Given the description of an element on the screen output the (x, y) to click on. 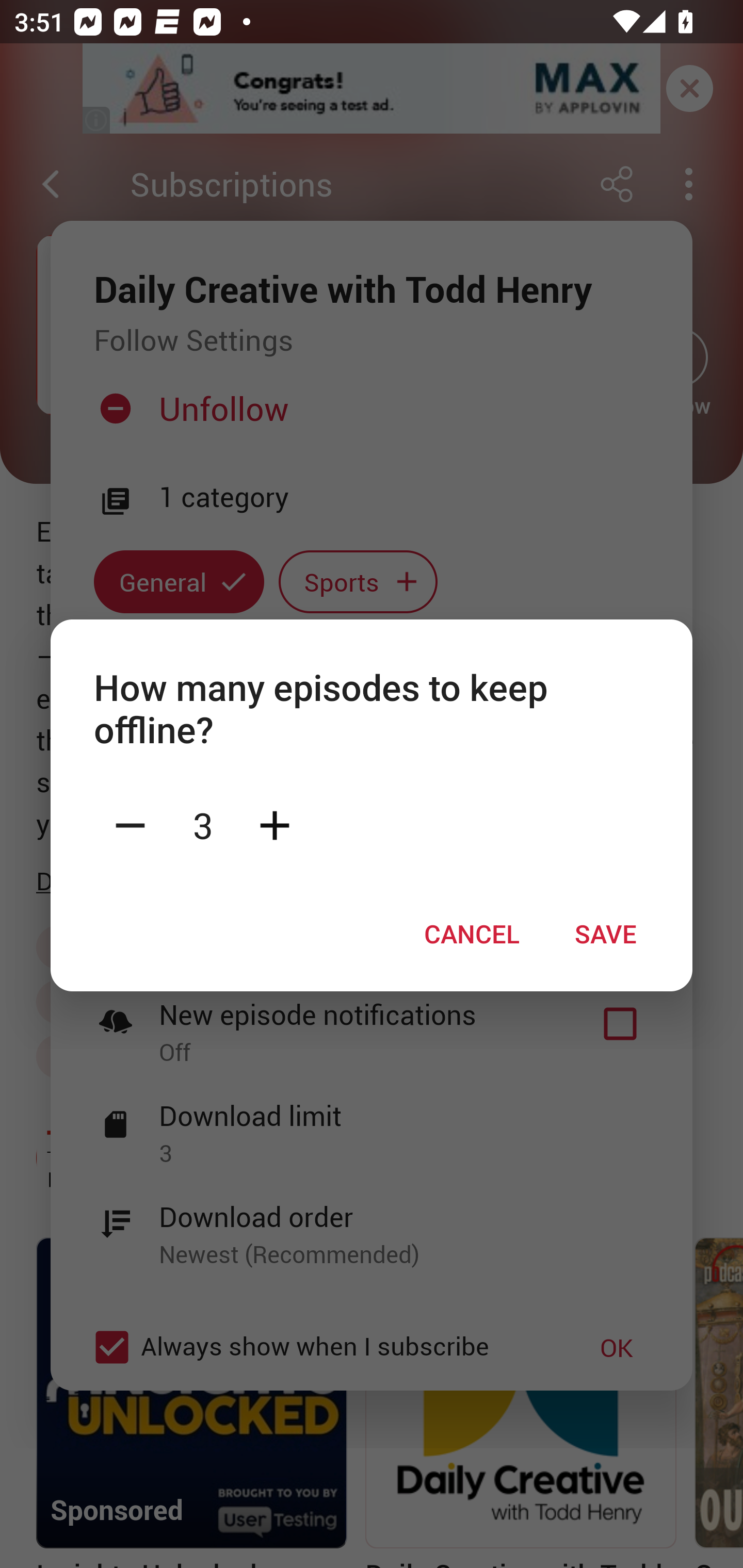
Minus (129, 824)
Plus (274, 824)
CANCEL (470, 933)
SAVE (605, 933)
